Given the description of an element on the screen output the (x, y) to click on. 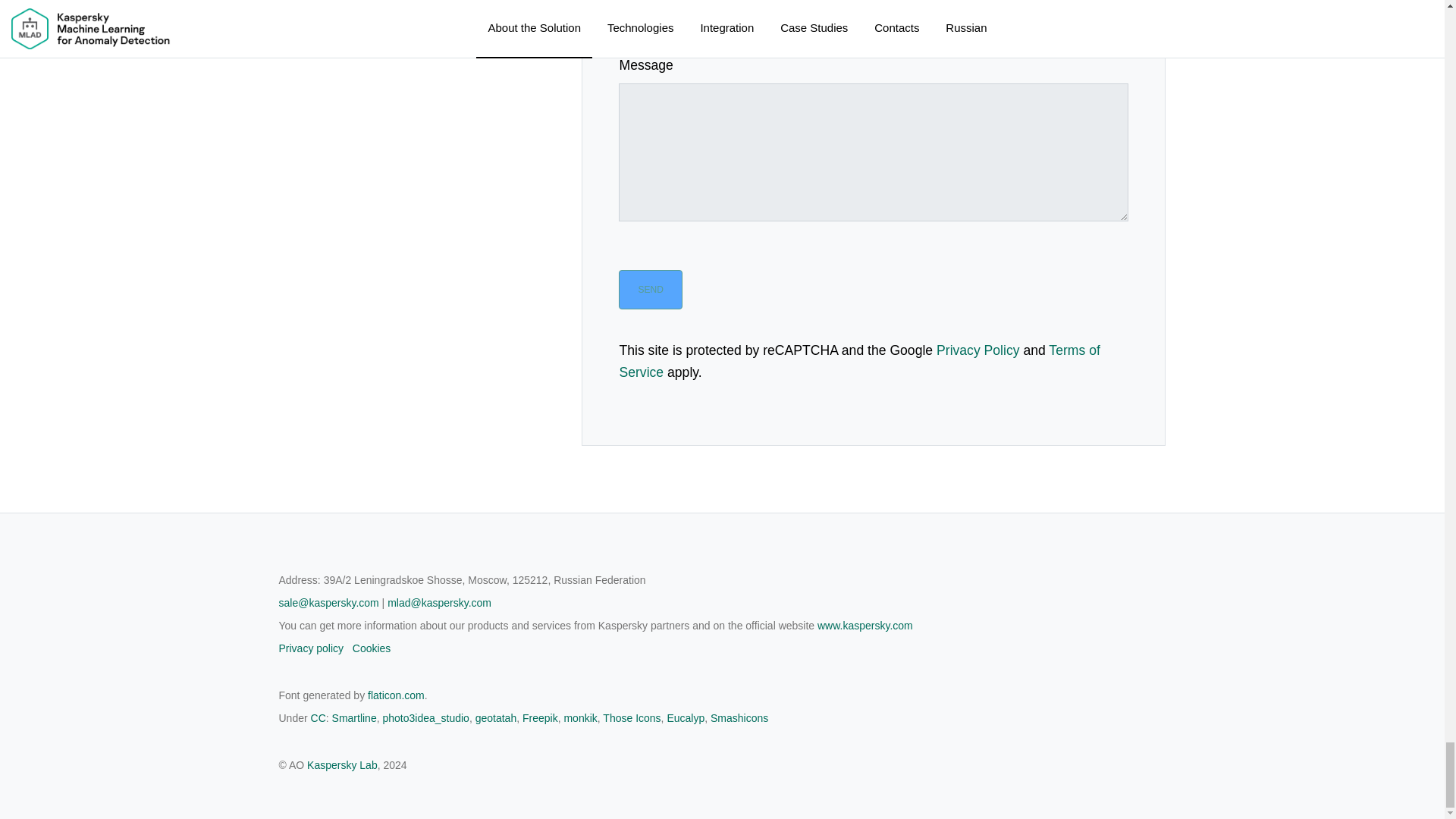
Privacy policy (311, 648)
Freepik (539, 717)
Privacy Policy (978, 350)
Cookies (371, 648)
Smashicons (739, 717)
CC (318, 717)
flaticon.com (396, 695)
Those Icons (631, 717)
Smartline (354, 717)
www.kaspersky.com (864, 625)
